Given the description of an element on the screen output the (x, y) to click on. 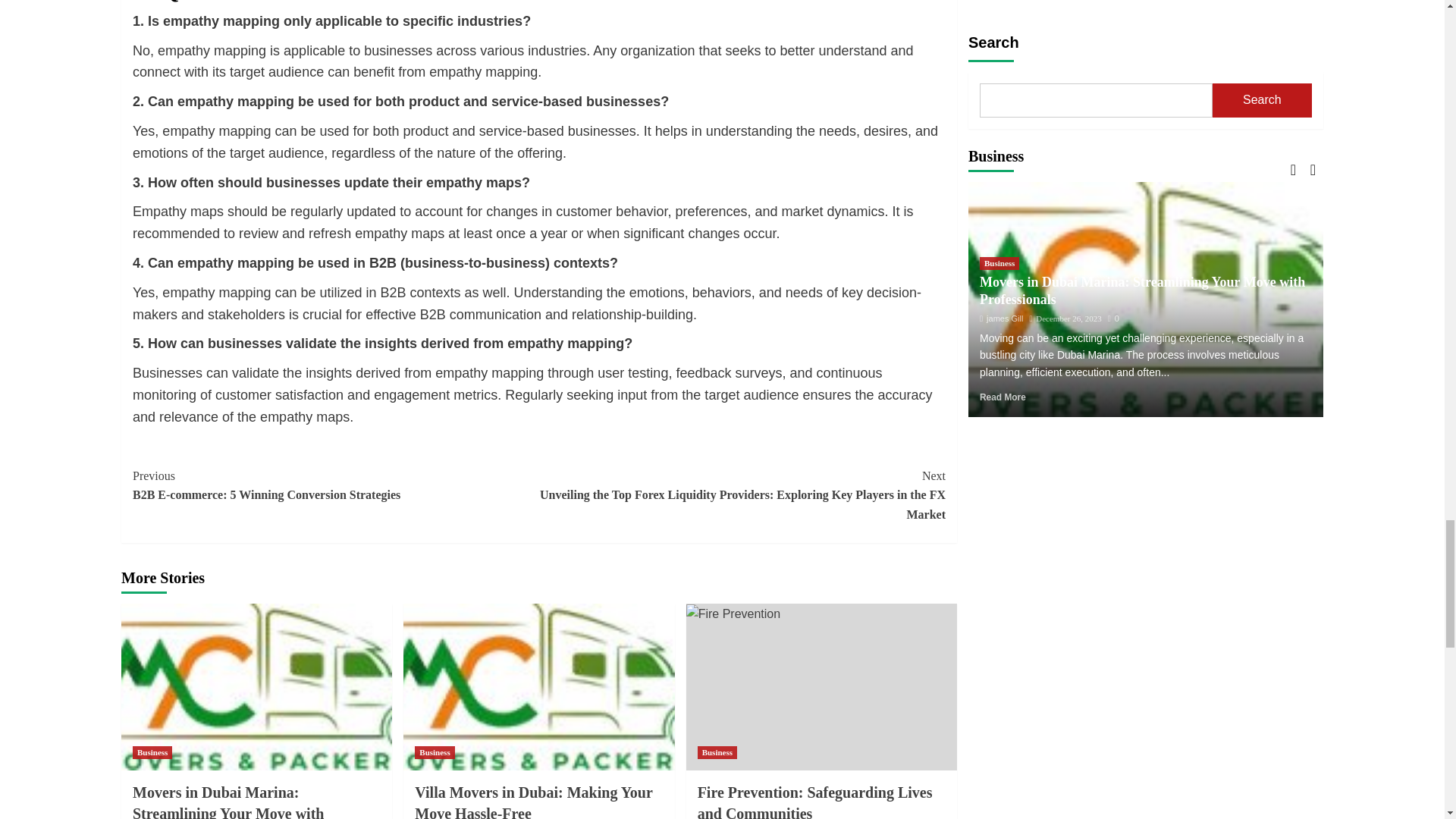
Business (434, 752)
Villa Movers in Dubai: Making Your Move Hassle-Free (533, 801)
Business (335, 485)
